Given the description of an element on the screen output the (x, y) to click on. 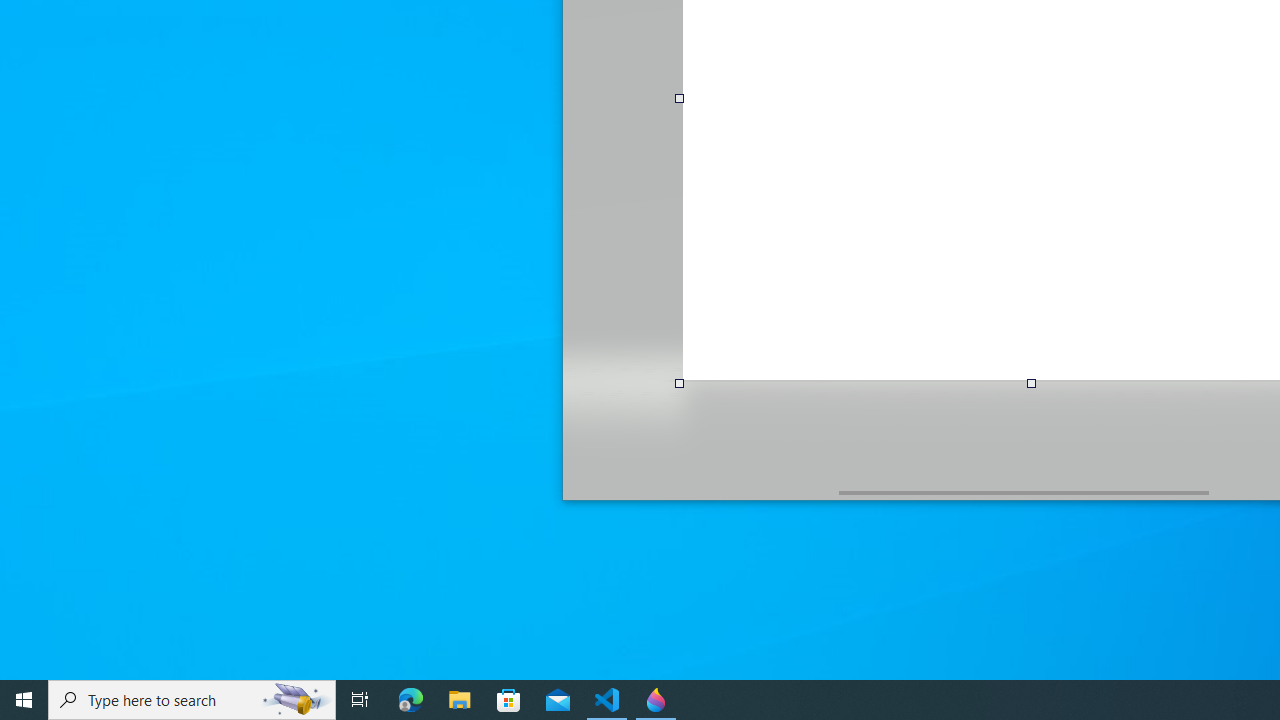
Start (24, 699)
Search highlights icon opens search home window (295, 699)
Task View (359, 699)
Microsoft Edge (411, 699)
Microsoft Store (509, 699)
Paint 3D - 1 running window (656, 699)
File Explorer (460, 699)
Visual Studio Code - 1 running window (607, 699)
Type here to search (191, 699)
